Given the description of an element on the screen output the (x, y) to click on. 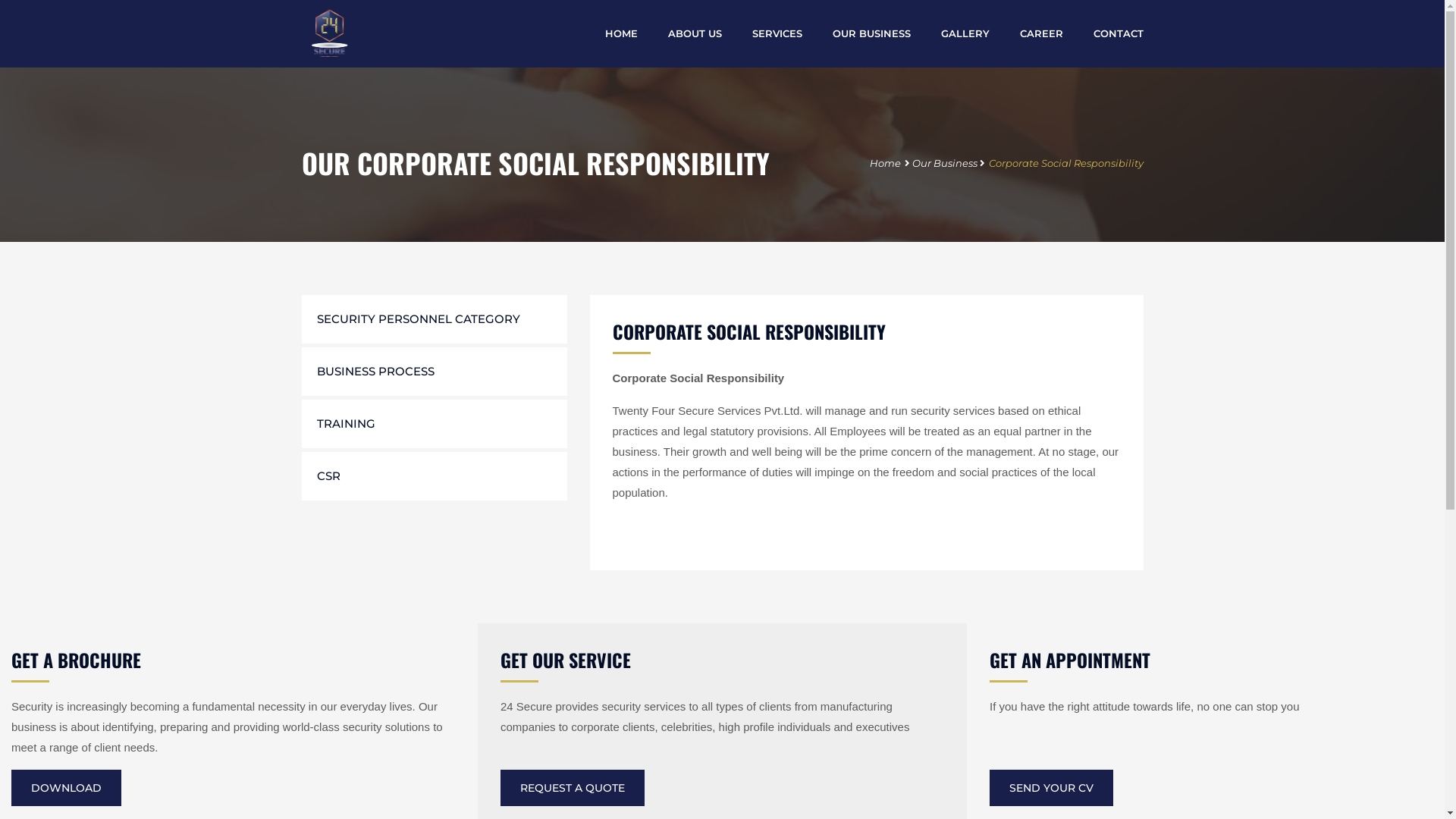
SEND YOUR CV Element type: text (1051, 787)
Home Element type: text (884, 162)
Our Business Element type: text (943, 162)
OUR BUSINESS Element type: text (871, 33)
CAREER Element type: text (1040, 33)
BUSINESS PROCESS Element type: text (434, 371)
SERVICES Element type: text (777, 33)
REQUEST A QUOTE Element type: text (572, 787)
ABOUT US Element type: text (694, 33)
CSR Element type: text (434, 475)
HOME Element type: text (621, 33)
GALLERY Element type: text (964, 33)
TRAINING Element type: text (434, 423)
DOWNLOAD Element type: text (66, 787)
SECURITY PERSONNEL CATEGORY Element type: text (434, 318)
Corporate Social Responsibility Element type: text (1065, 162)
CONTACT Element type: text (1118, 33)
